Given the description of an element on the screen output the (x, y) to click on. 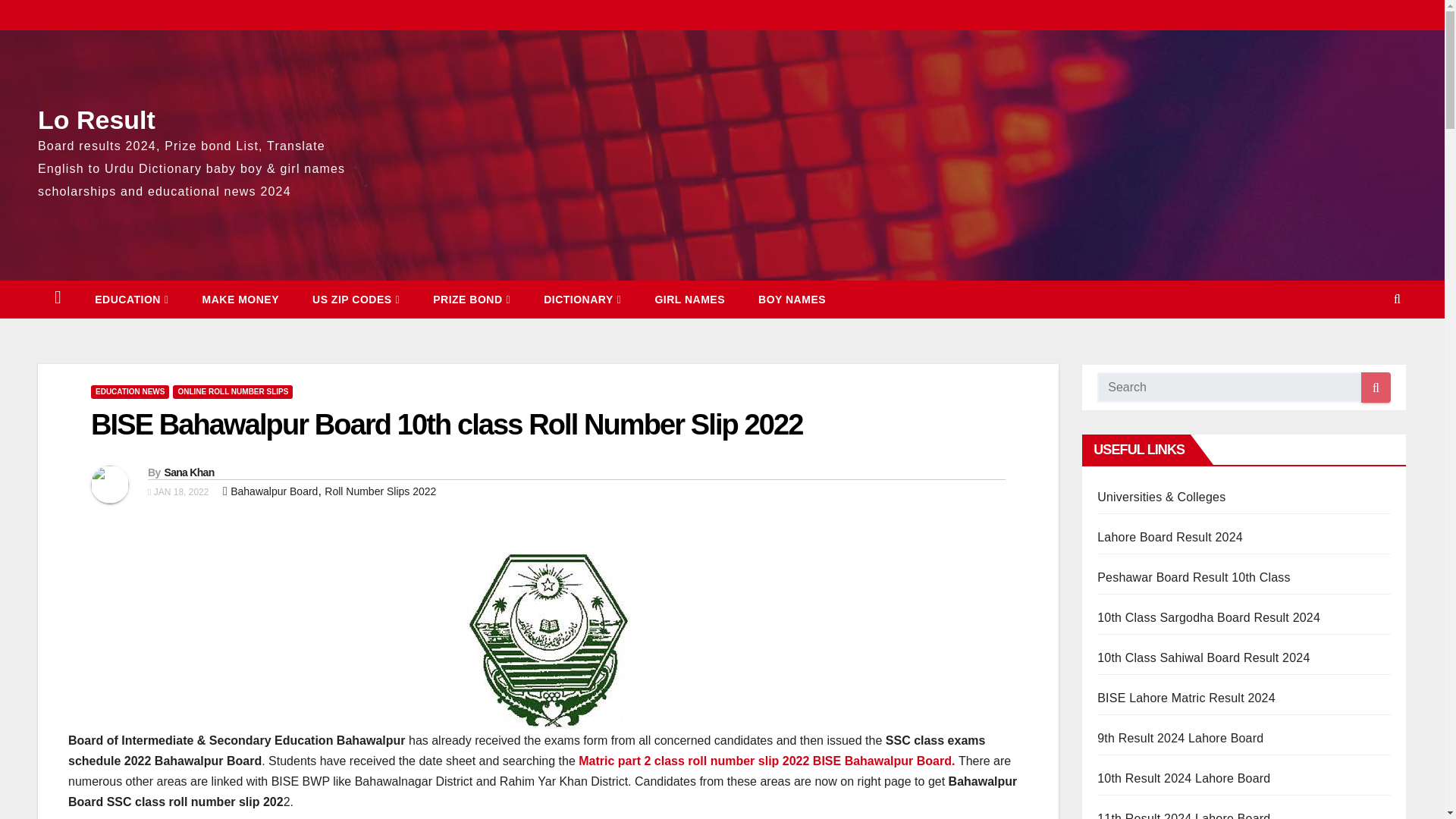
EDUCATION (131, 299)
Bahawalpur Board (273, 491)
PRIZE BOND (471, 299)
BISE Sargodha Matric, SSC, Matric Result 2024 (1208, 617)
EDUCATION NEWS (129, 391)
MAKE MONEY (240, 299)
BISE Lahore Result 2023 (1170, 536)
Sana Khan (188, 472)
Lo Result (96, 118)
Roll Number Slips 2022 (379, 491)
BOY NAMES (792, 299)
BISE Peshawar Matric Result 2024 (1193, 576)
GIRL NAMES (689, 299)
